Given the description of an element on the screen output the (x, y) to click on. 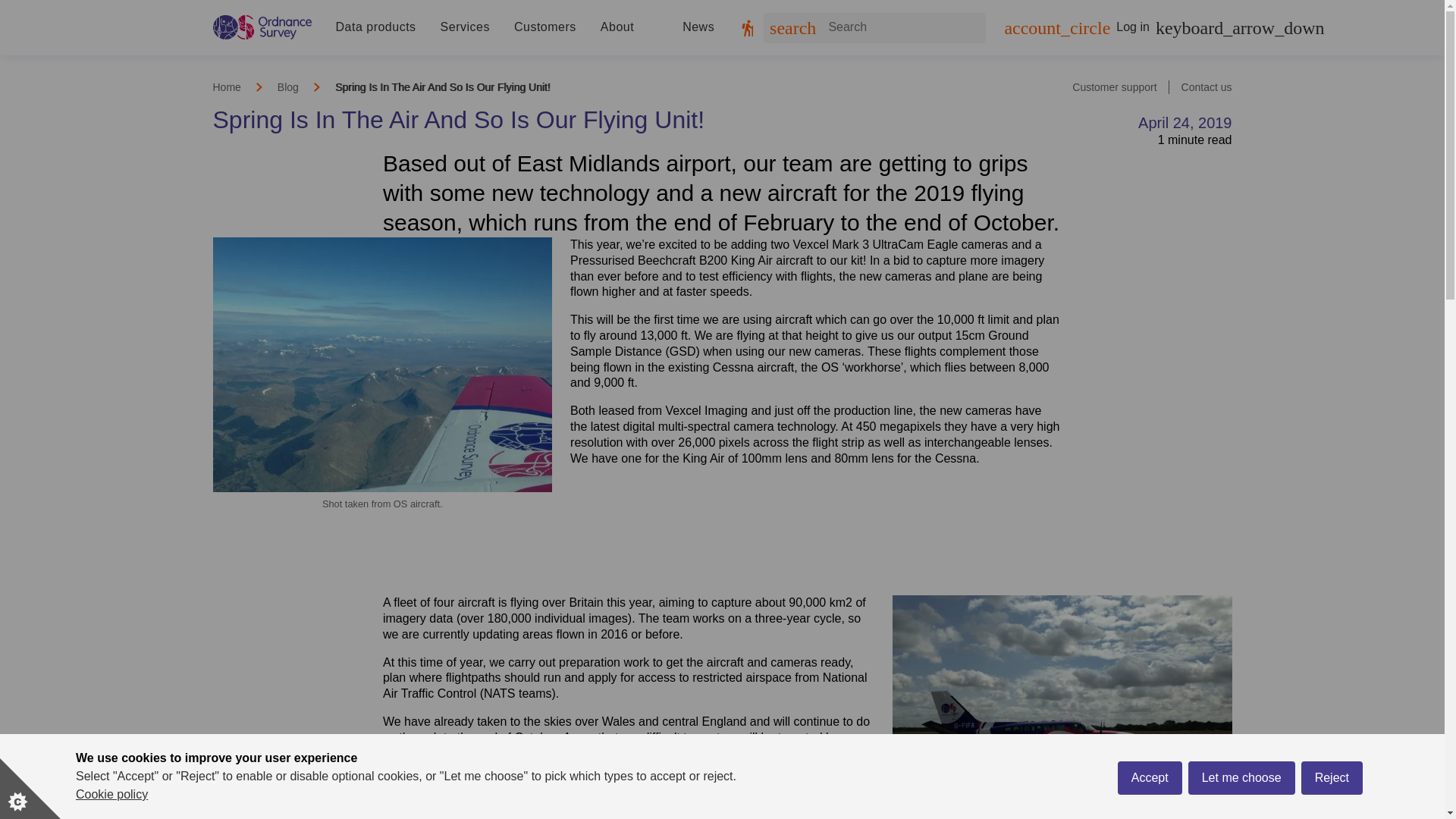
Services (465, 27)
Contact us (1205, 87)
Let me choose (1241, 805)
Data products (375, 27)
Ordnance Survey home (261, 27)
News (697, 27)
Customers (545, 27)
Home (226, 87)
Accept (1150, 811)
Blog (288, 87)
Customer support (1113, 87)
About (617, 27)
Shop (756, 27)
Reject (1331, 802)
